Given the description of an element on the screen output the (x, y) to click on. 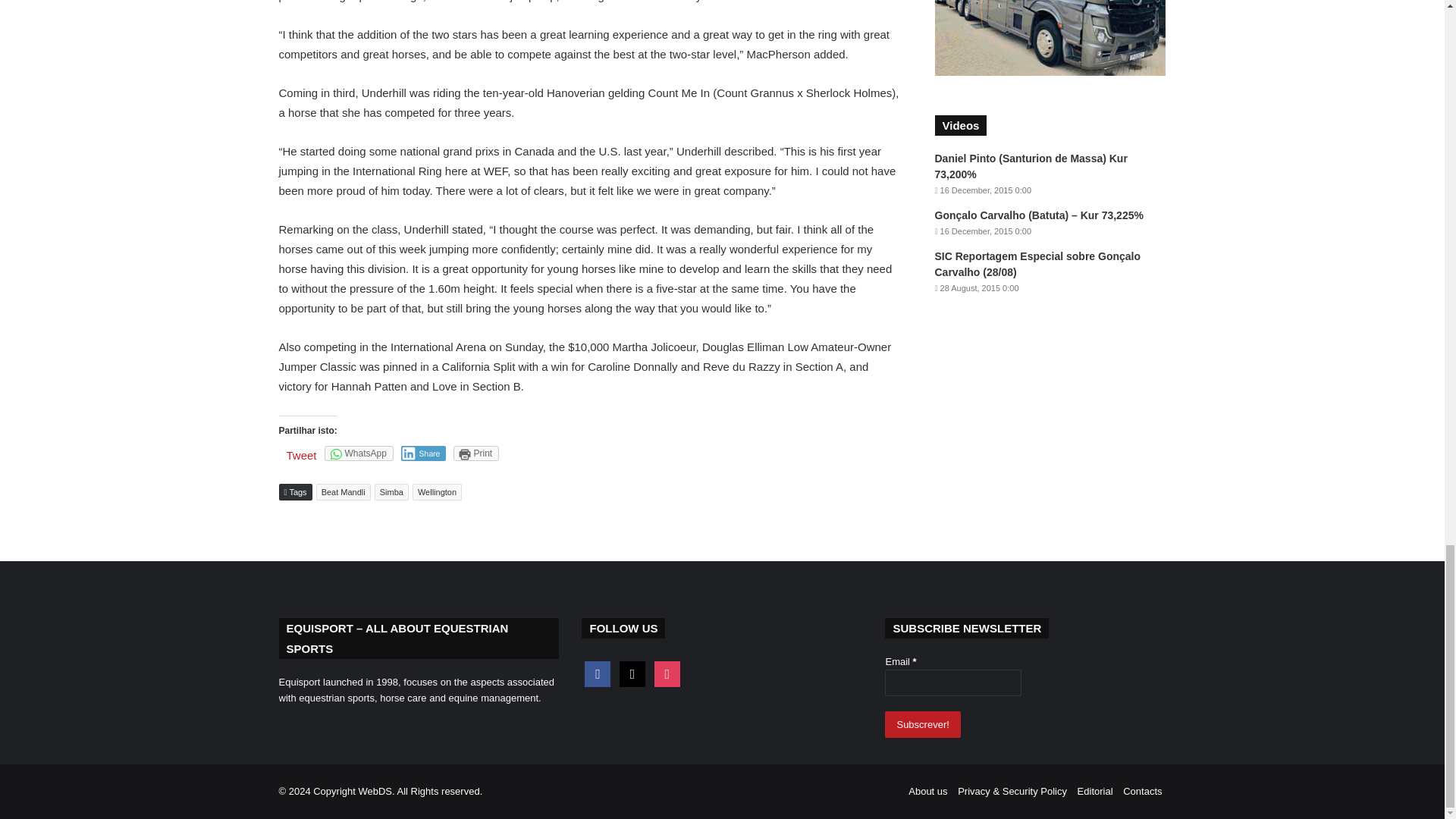
Click to share on WhatsApp (358, 453)
Email (953, 682)
Friend me on Facebook (597, 672)
Subscrever! (922, 724)
Tweet (301, 454)
Click to print (475, 453)
